Given the description of an element on the screen output the (x, y) to click on. 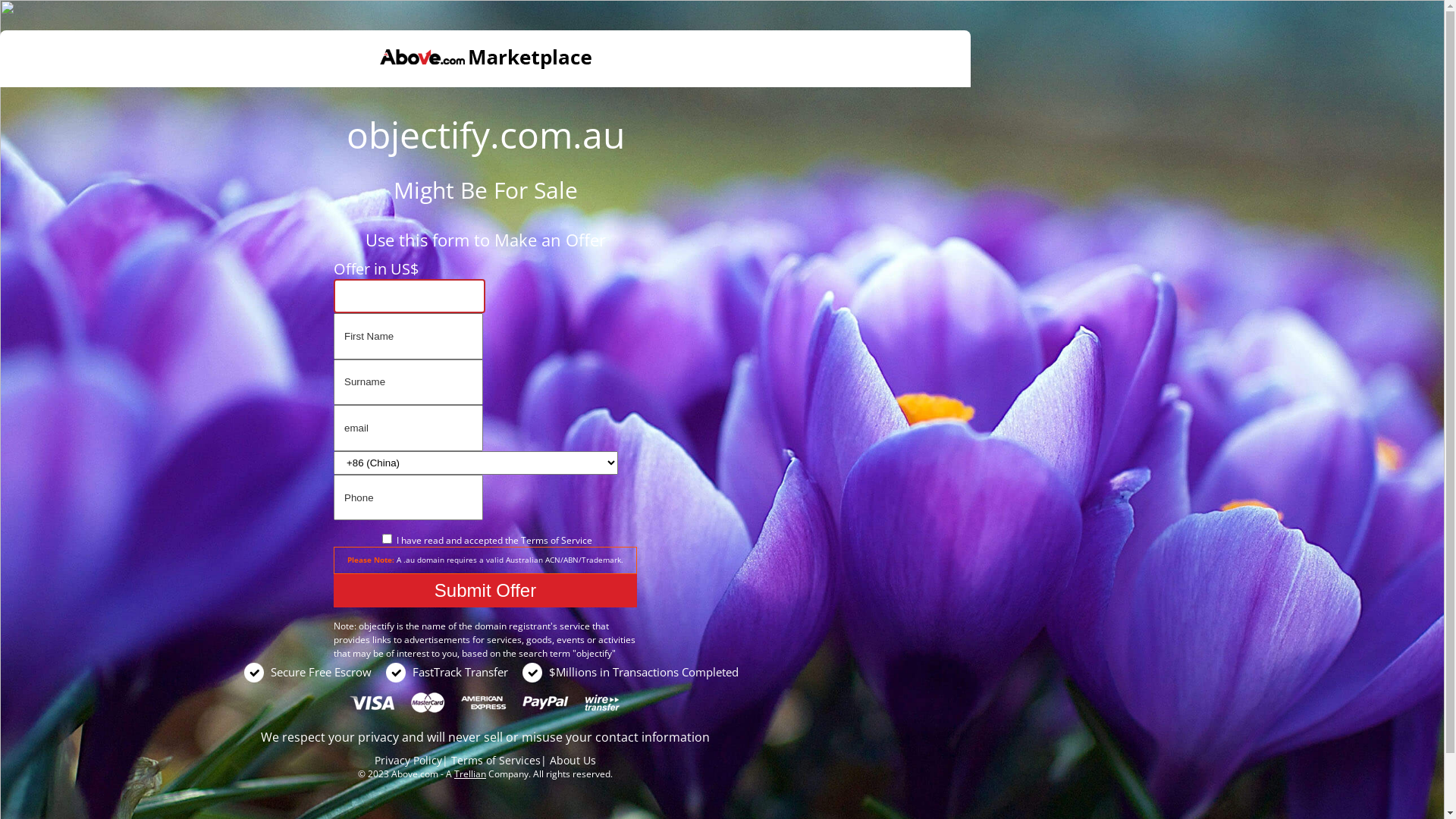
Privacy Policy Element type: text (408, 760)
Terms of Services Element type: text (495, 760)
Submit Offer Element type: text (485, 590)
About Us Element type: text (572, 760)
Terms Element type: text (533, 539)
Trellian Element type: text (470, 773)
